Given the description of an element on the screen output the (x, y) to click on. 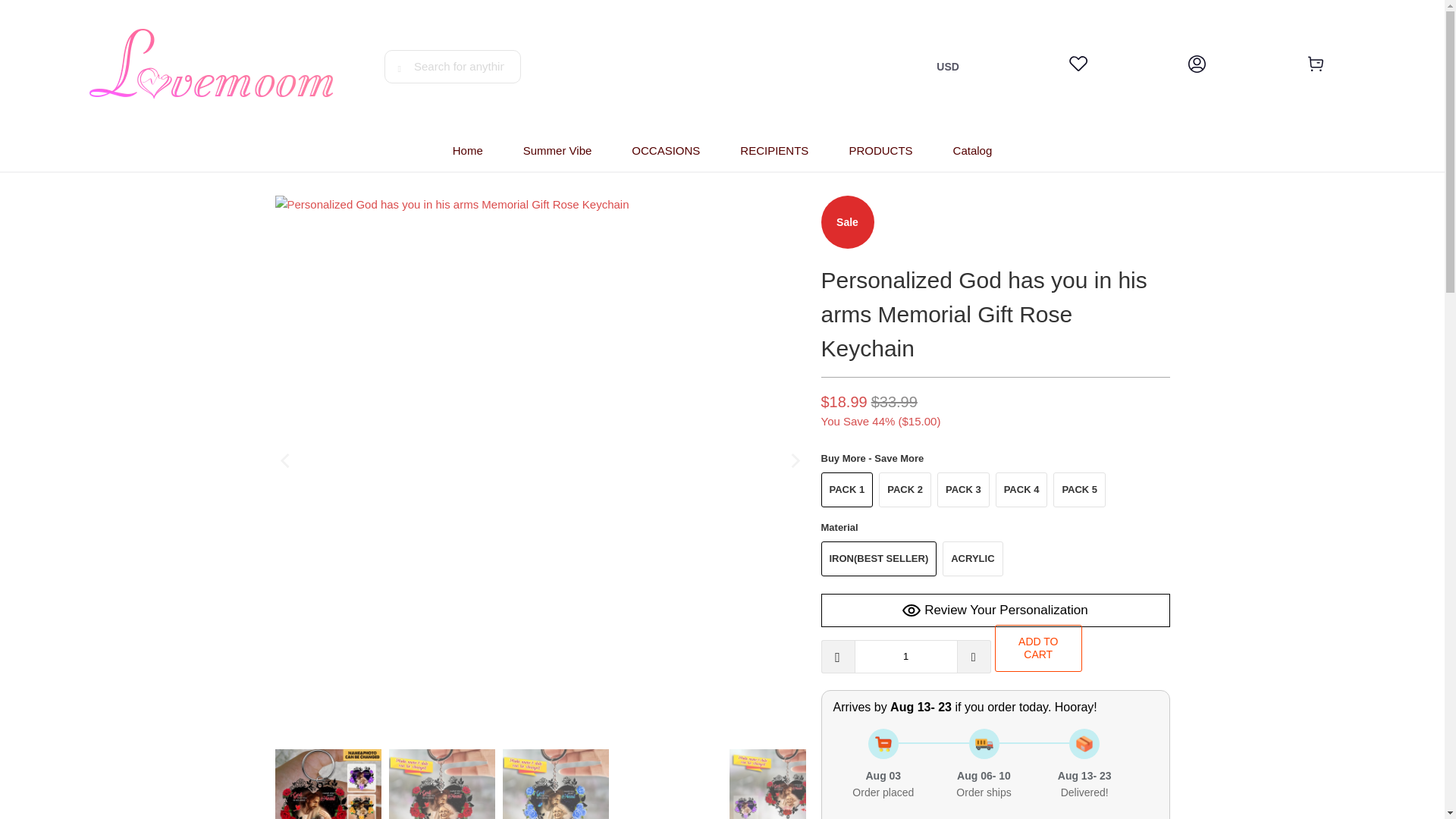
Lovem-oom (211, 66)
1 (904, 656)
